Given the description of an element on the screen output the (x, y) to click on. 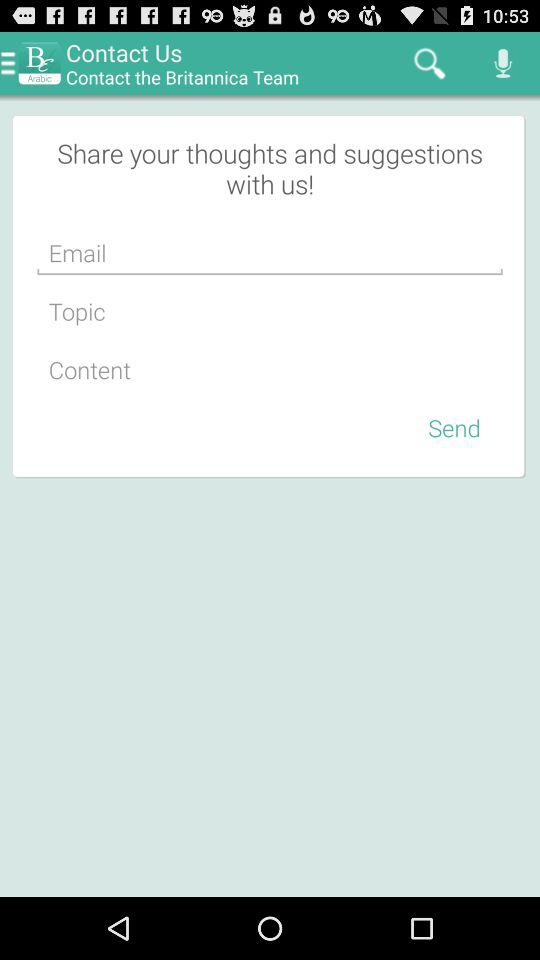
choose item on the right (454, 427)
